Given the description of an element on the screen output the (x, y) to click on. 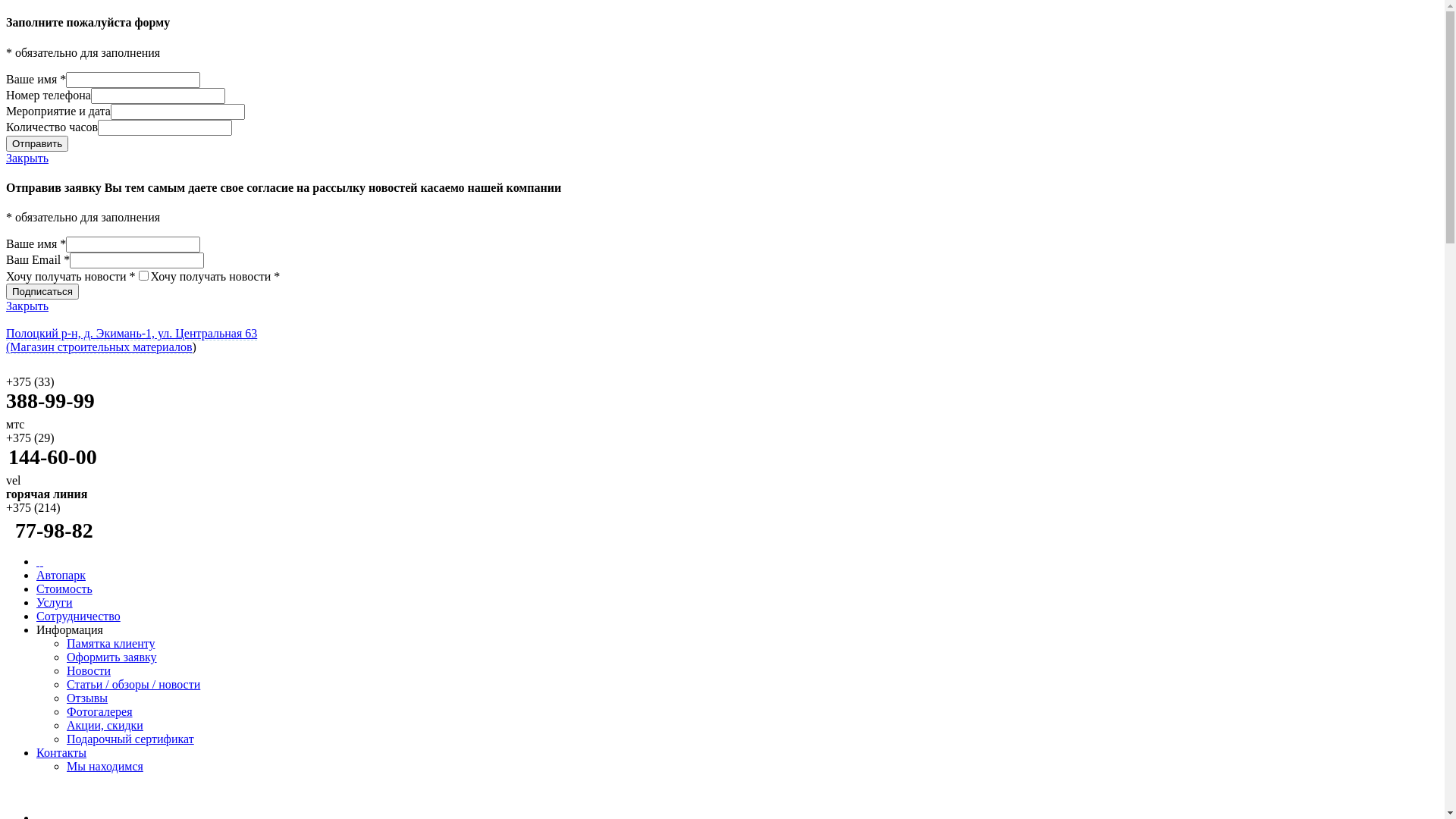
   Element type: text (39, 561)
